Given the description of an element on the screen output the (x, y) to click on. 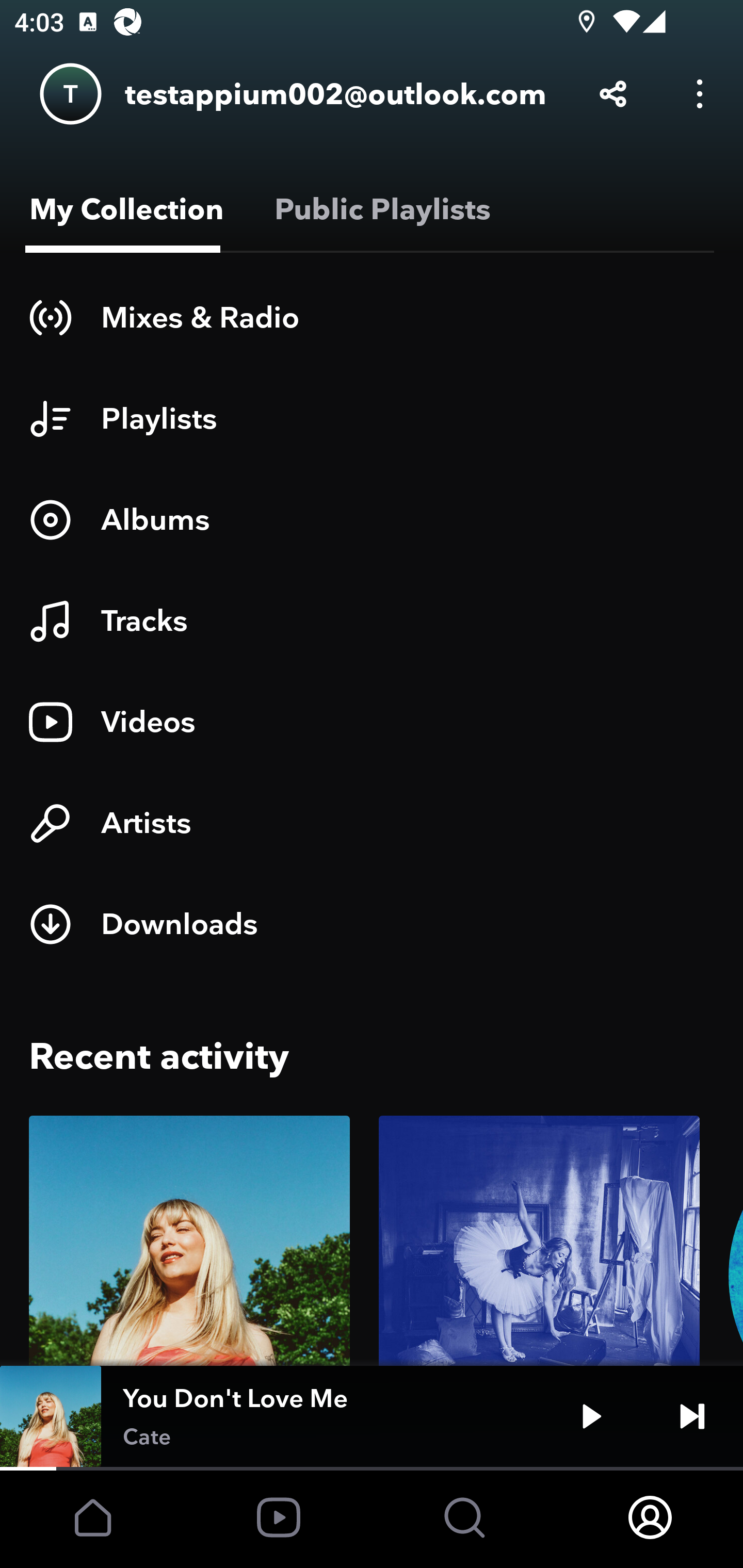
Share (612, 93)
Options (699, 93)
Public Playlists (378, 209)
Mixes & Radio (371, 317)
Playlists (371, 418)
Albums (371, 519)
Tracks (371, 620)
Videos (371, 722)
Artists (371, 823)
Downloads (371, 924)
You Don't Love Me Cate Play (371, 1416)
Play (590, 1416)
